Given the description of an element on the screen output the (x, y) to click on. 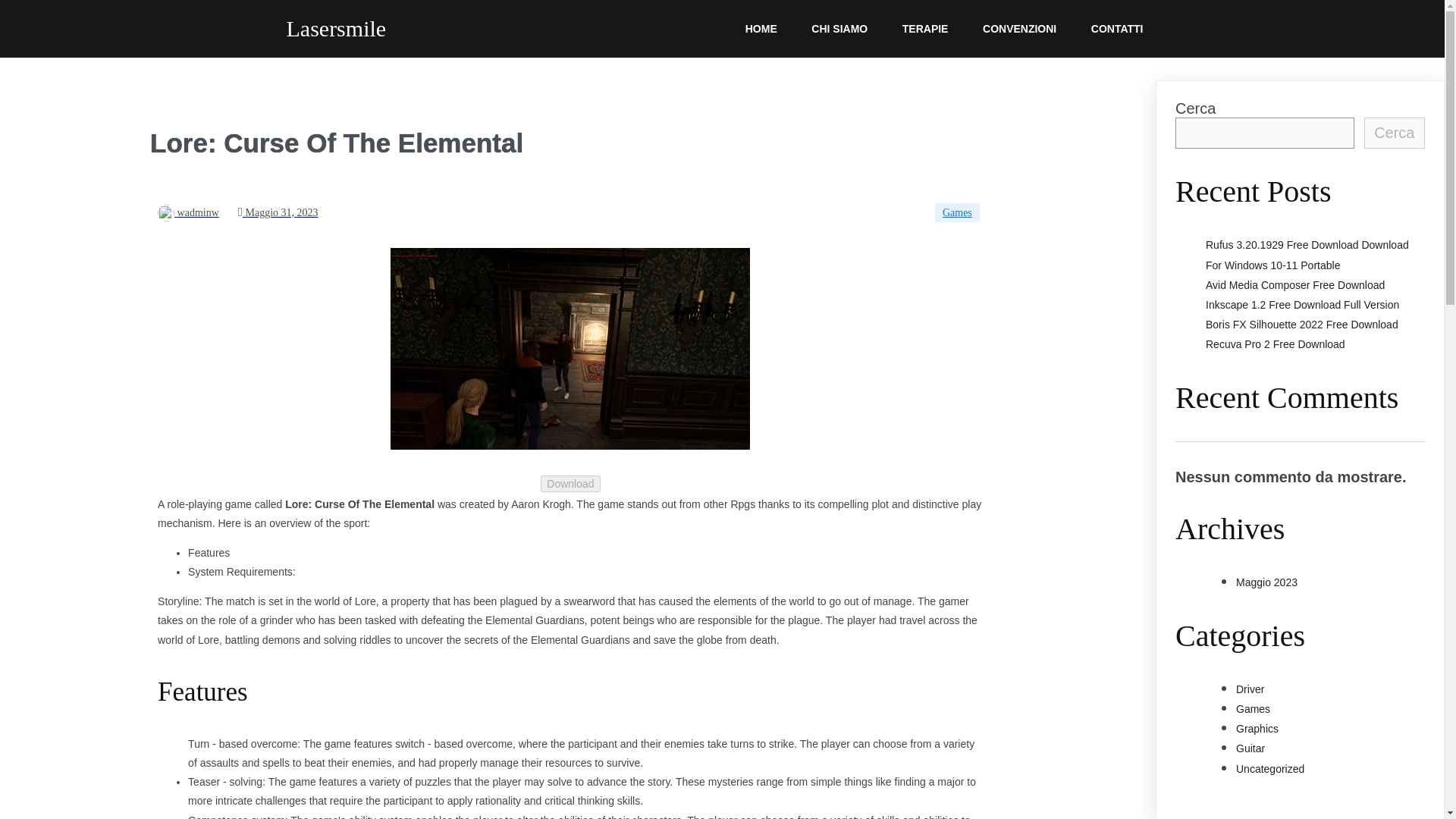
Download (569, 483)
Download (569, 483)
Maggio 2023 (1266, 582)
HOME (761, 28)
Cerca (1394, 132)
wadminw (188, 212)
Lasersmile (456, 28)
Games (956, 212)
Maggio 31, 2023 (278, 212)
